Given the description of an element on the screen output the (x, y) to click on. 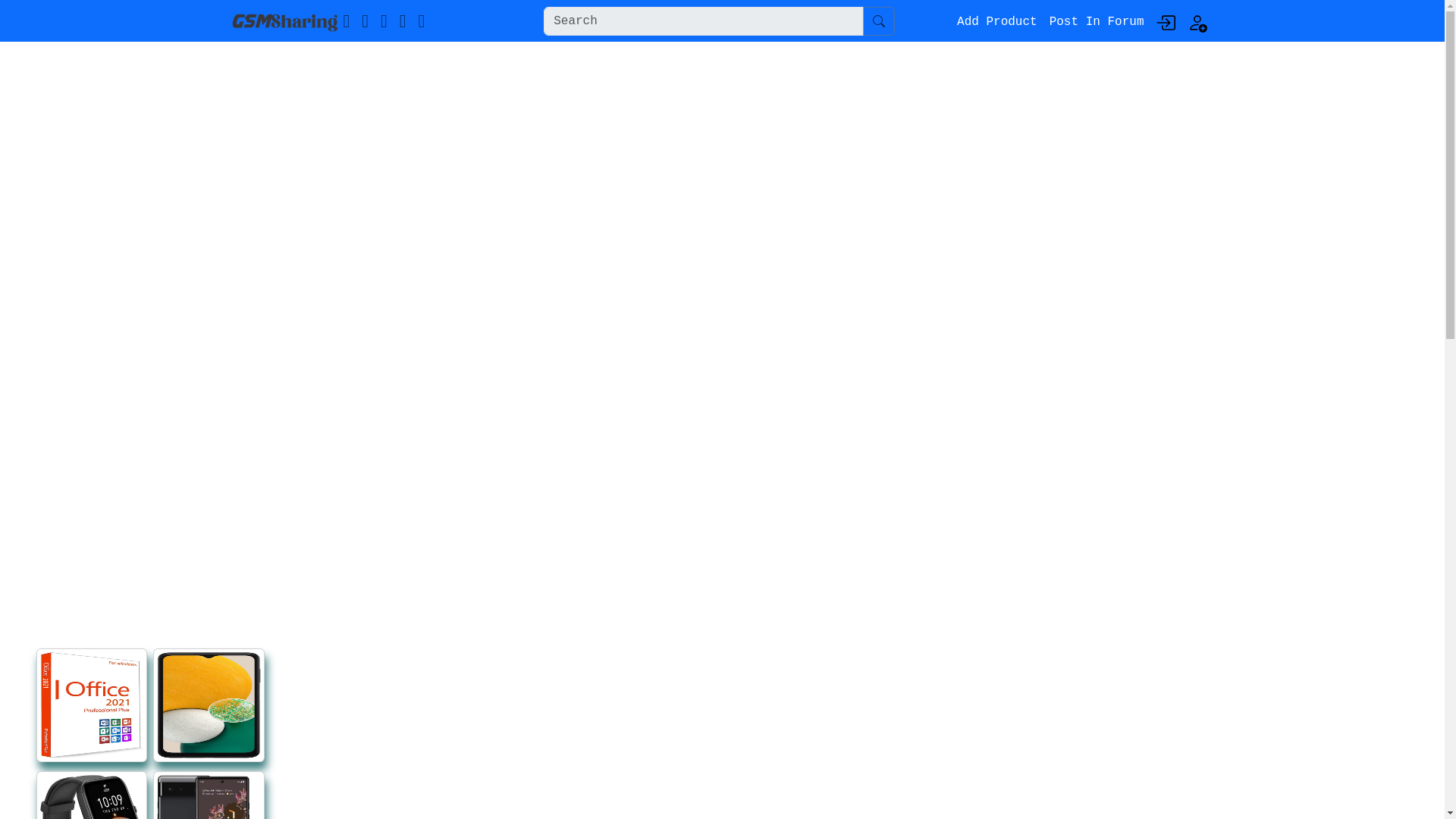
Register (1196, 22)
Add Product (996, 20)
Post In Forum (1096, 20)
LogIn (1165, 22)
